Given the description of an element on the screen output the (x, y) to click on. 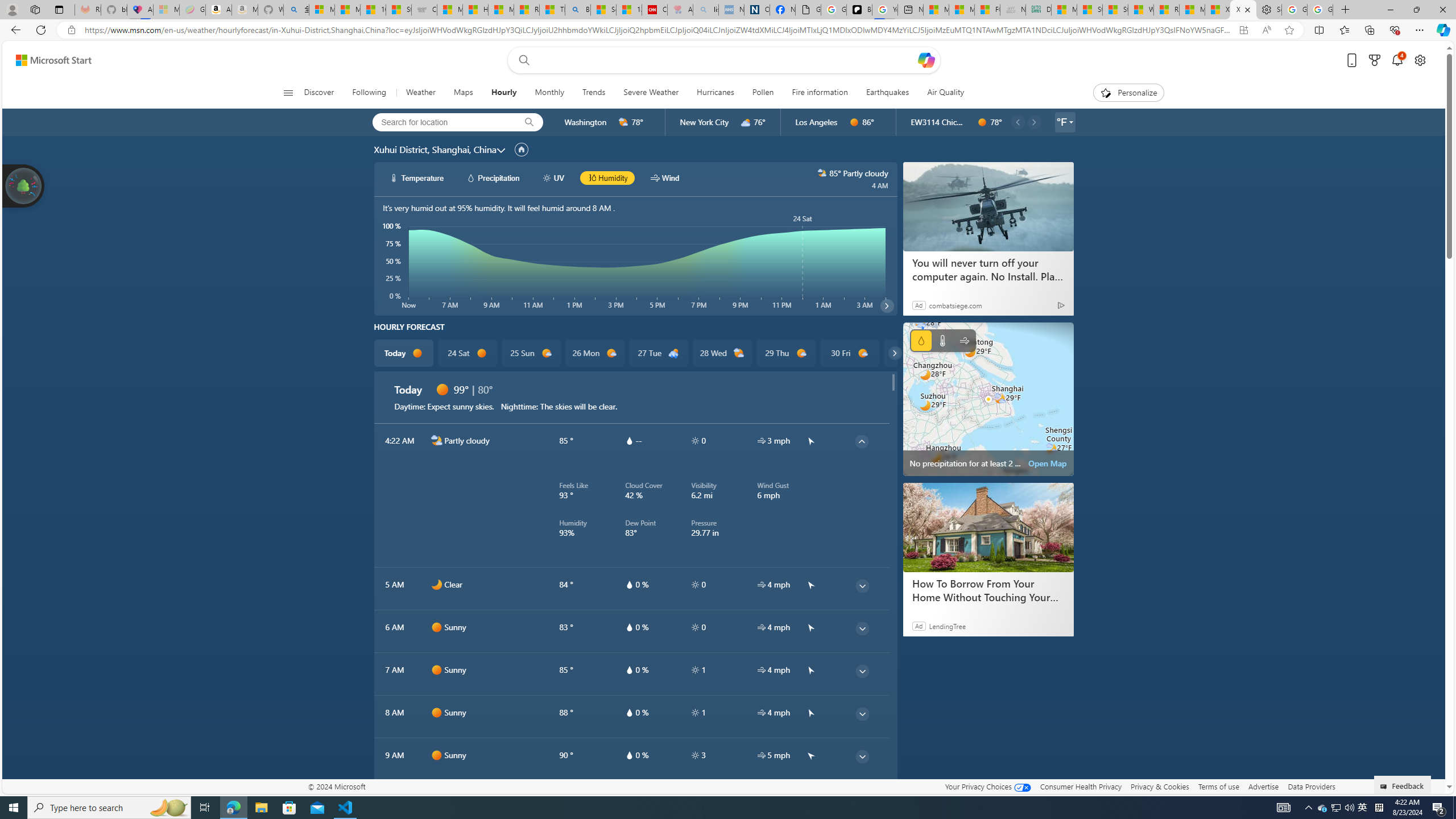
27 Tue d2200 (658, 352)
d1000 (862, 353)
24 Sat d0000 (466, 352)
Wind (964, 340)
common/arrow (810, 797)
